Given the description of an element on the screen output the (x, y) to click on. 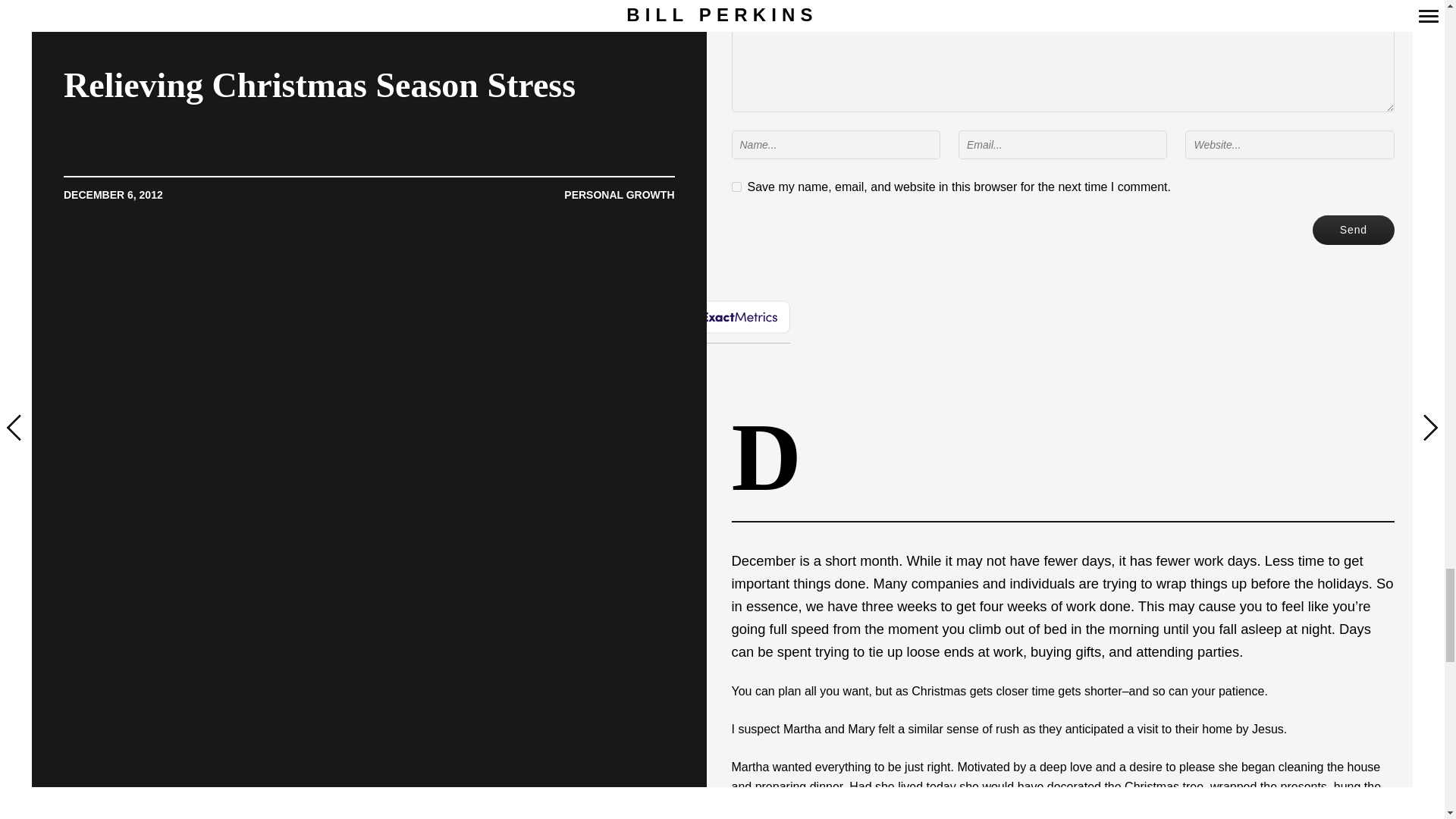
Verified by ExactMetrics (722, 316)
yes (735, 186)
Send (1353, 229)
